Given the description of an element on the screen output the (x, y) to click on. 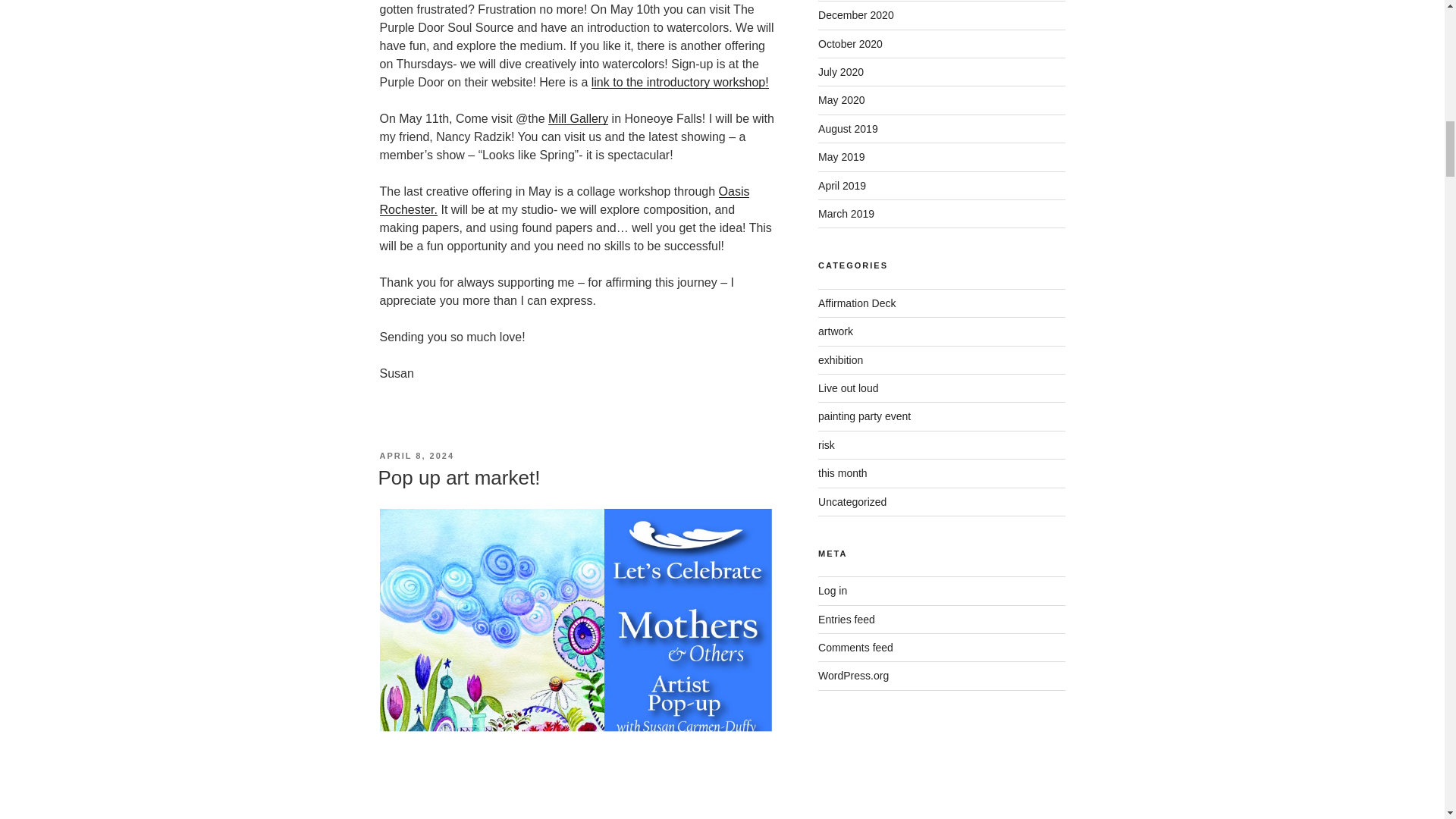
Oasis Rochester. (563, 200)
link to the introductory workshop! (679, 82)
APRIL 8, 2024 (416, 455)
Mill Gallery (578, 118)
Pop up art market! (458, 477)
